Given the description of an element on the screen output the (x, y) to click on. 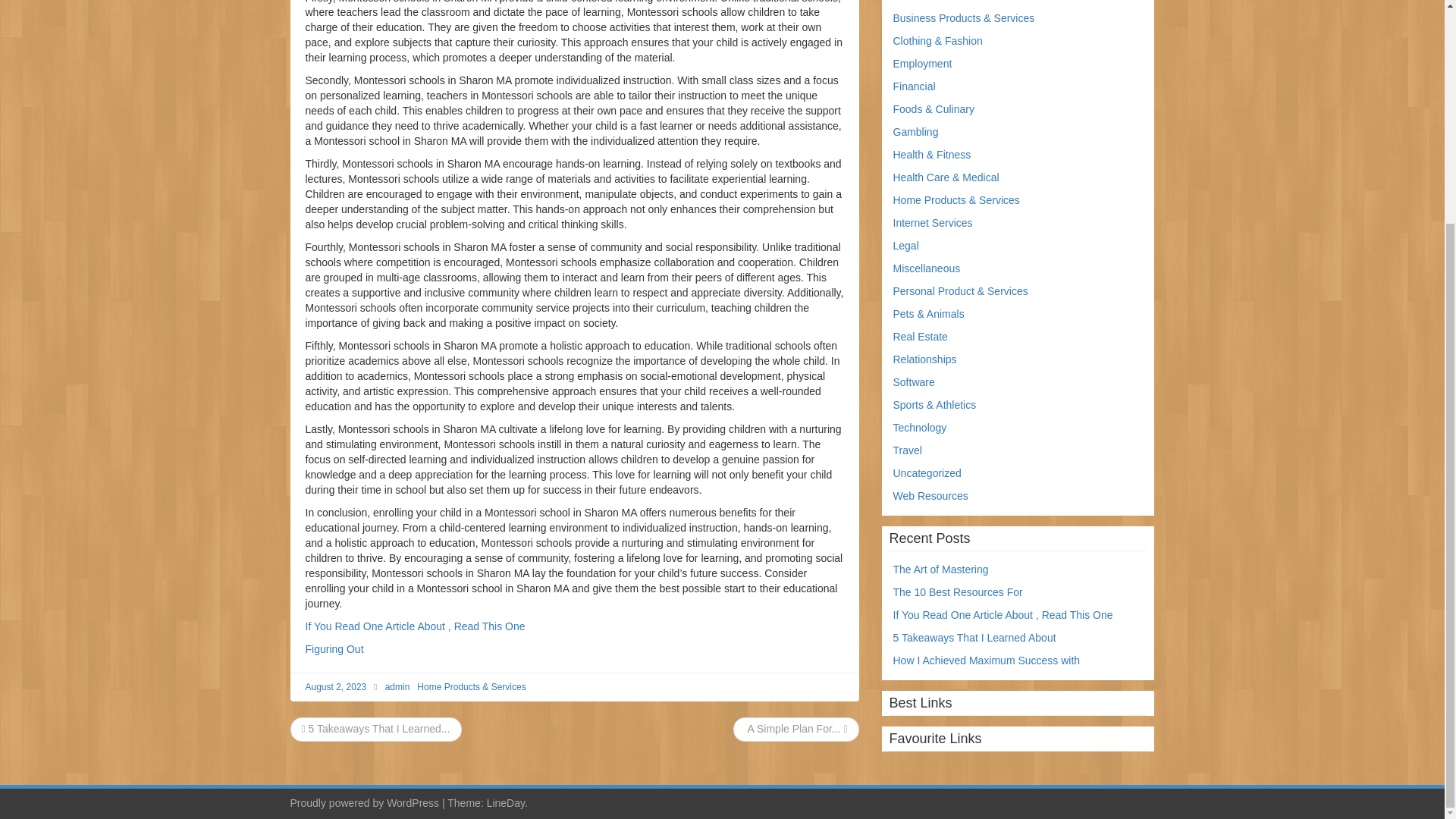
Figuring Out (333, 648)
Technology (920, 427)
The Art of Mastering (940, 569)
Miscellaneous (926, 268)
Web Resources (930, 495)
 A Simple Plan For...  (795, 728)
Travel (907, 450)
August 2, 2023 (335, 686)
 5 Takeaways That I Learned... (375, 728)
Uncategorized (926, 472)
